Given the description of an element on the screen output the (x, y) to click on. 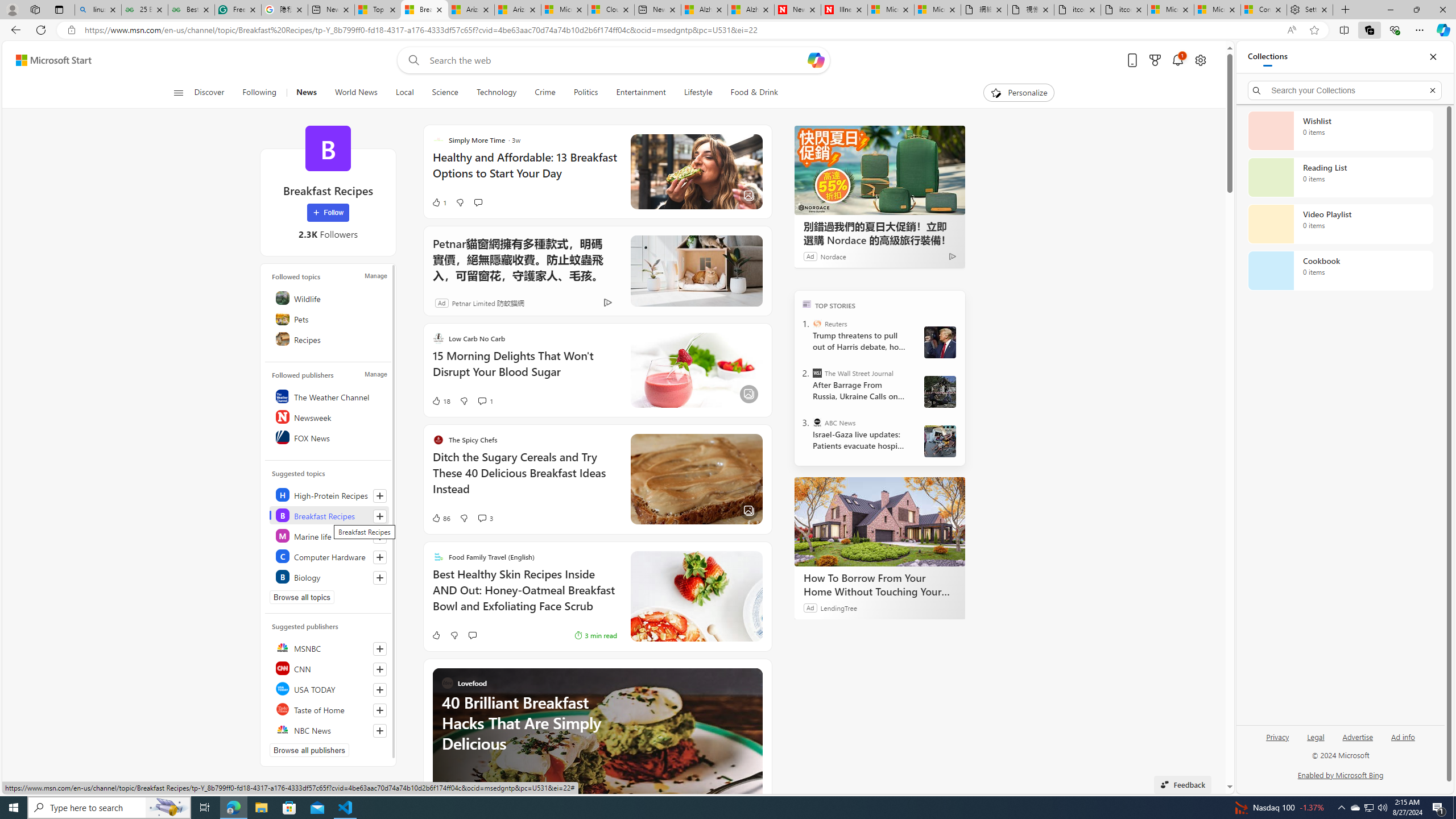
USA TODAY (328, 688)
linux basic - Search (97, 9)
Technology (496, 92)
TOP (806, 302)
Reuters (816, 323)
Newsweek (328, 416)
